Given the description of an element on the screen output the (x, y) to click on. 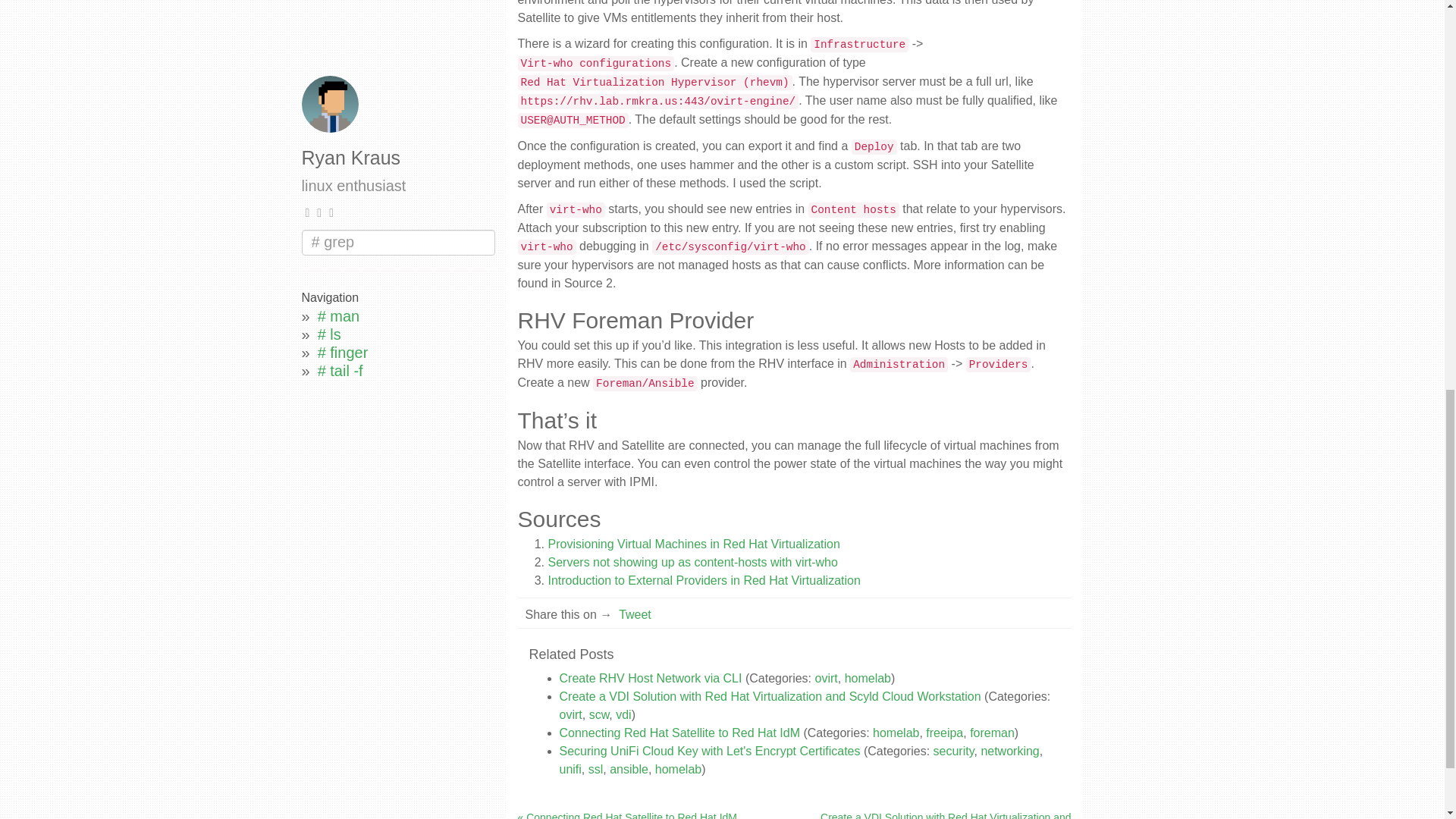
freeipa (944, 732)
homelab (895, 732)
foreman (991, 732)
ovirt (570, 714)
Create RHV Host Network via CLI (650, 677)
homelab (867, 677)
networking (1009, 750)
vdi (622, 714)
scw (599, 714)
Provisioning Virtual Machines in Red Hat Virtualization (693, 543)
ovirt (826, 677)
ansible (628, 768)
Tweet (634, 614)
Servers not showing up as content-hosts with virt-who (692, 561)
